Given the description of an element on the screen output the (x, y) to click on. 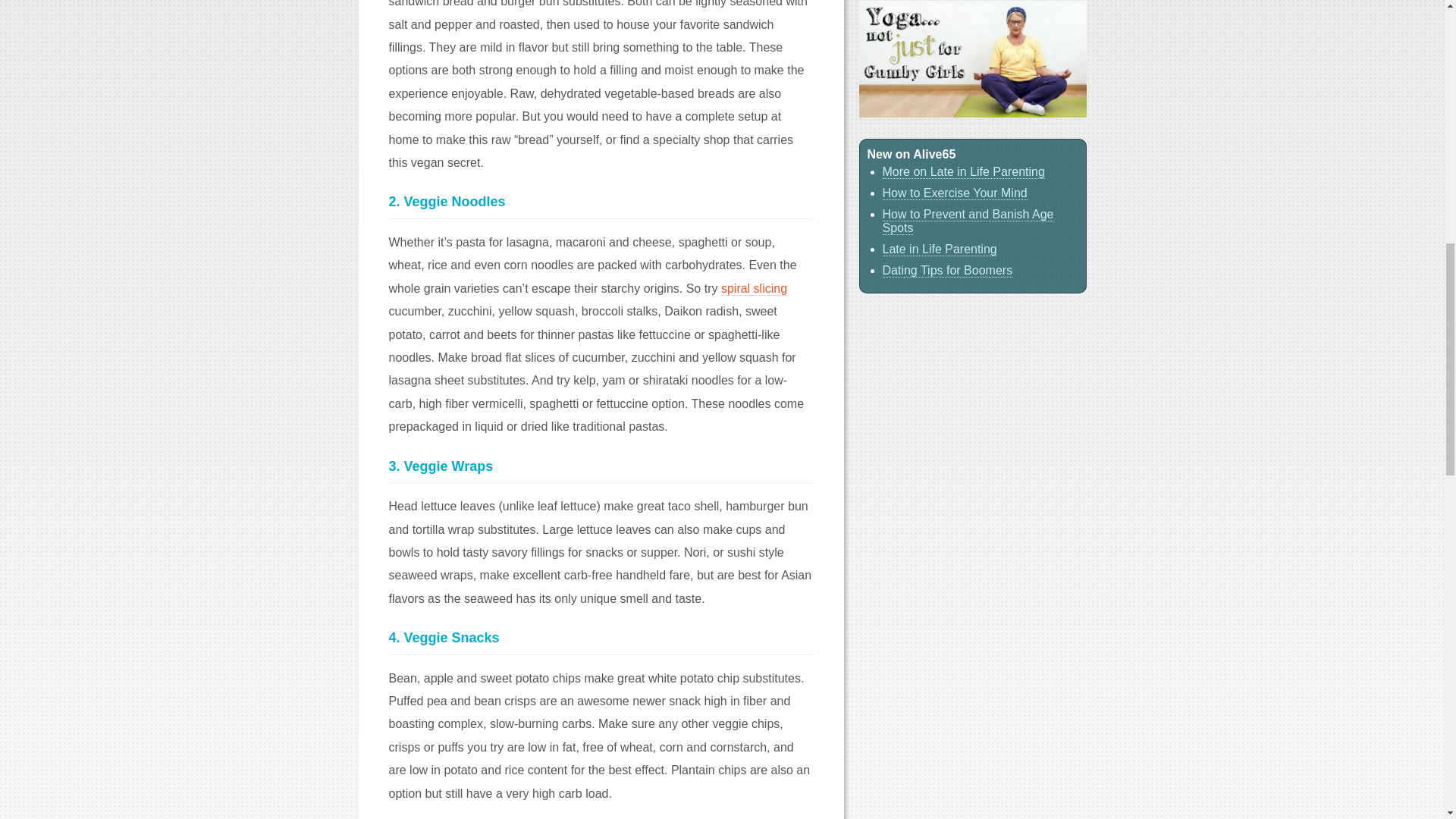
How to Exercise Your Mind (954, 192)
How to Prevent and Banish Age Spots (968, 221)
spiral slicing (753, 288)
Dating Tips for Boomers (947, 270)
Late in Life Parenting (939, 249)
More on Late in Life Parenting (963, 172)
